Given the description of an element on the screen output the (x, y) to click on. 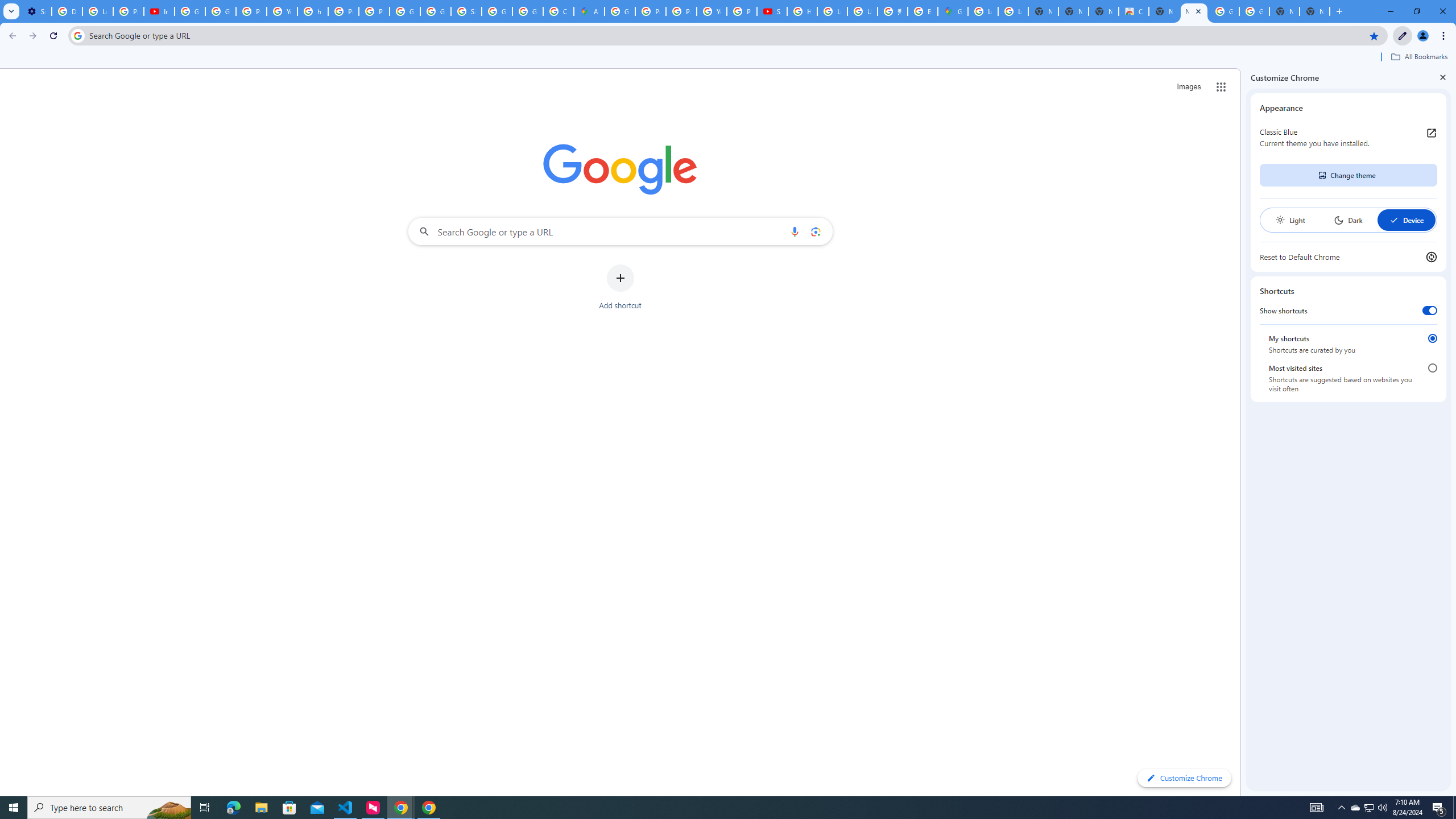
Google apps (1220, 86)
Privacy Help Center - Policies Help (343, 11)
All Bookmarks (1418, 56)
Bookmarks (728, 58)
Light (1289, 219)
My shortcuts (1432, 338)
Google Images (1254, 11)
Google Account Help (189, 11)
